Given the description of an element on the screen output the (x, y) to click on. 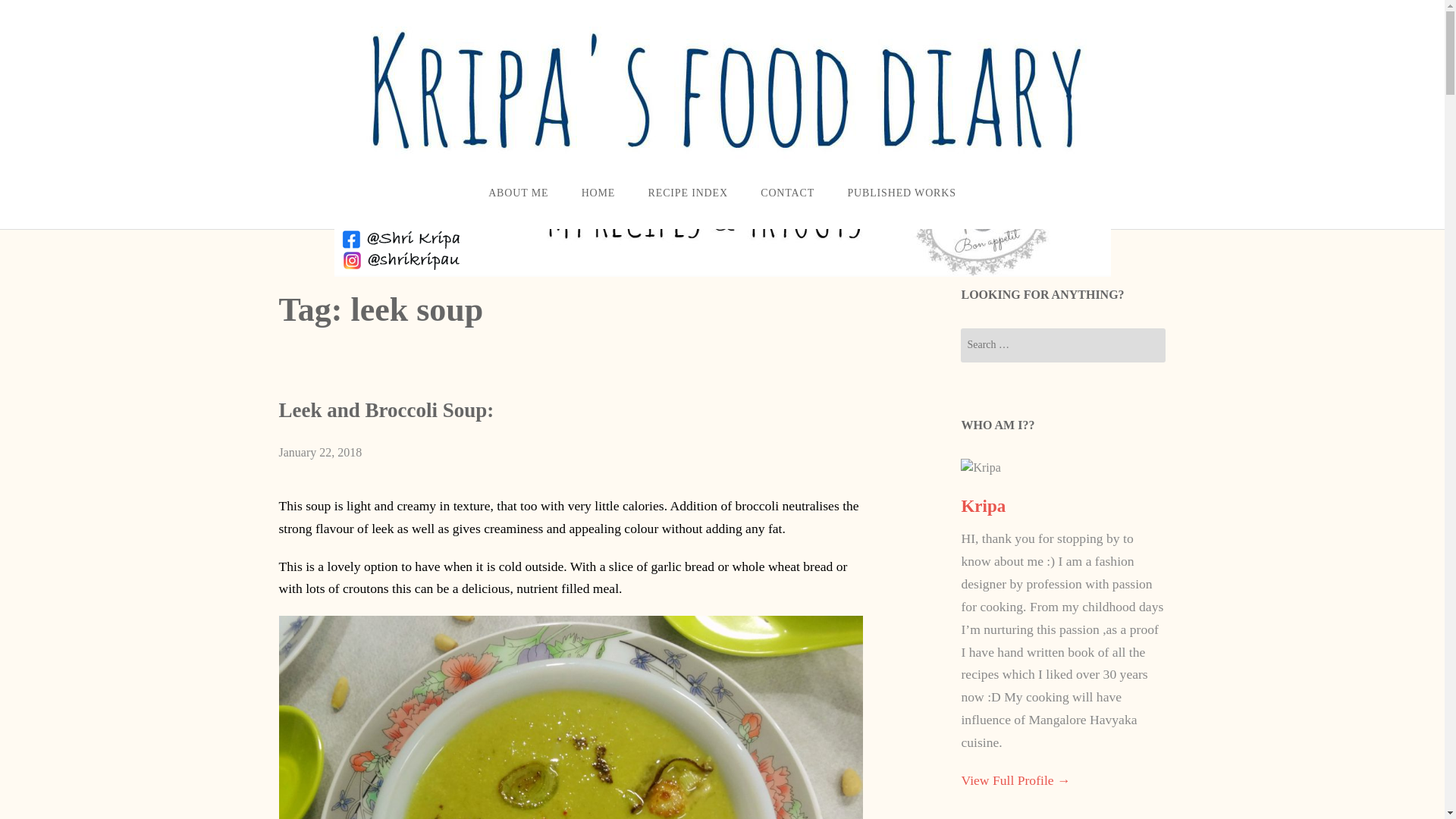
RECIPE INDEX (687, 192)
Kripa (983, 505)
CONTACT (787, 192)
Search (34, 11)
Leek and Broccoli Soup: (387, 409)
PUBLISHED WORKS (901, 192)
ABOUT ME (517, 192)
HOME (597, 192)
